Given the description of an element on the screen output the (x, y) to click on. 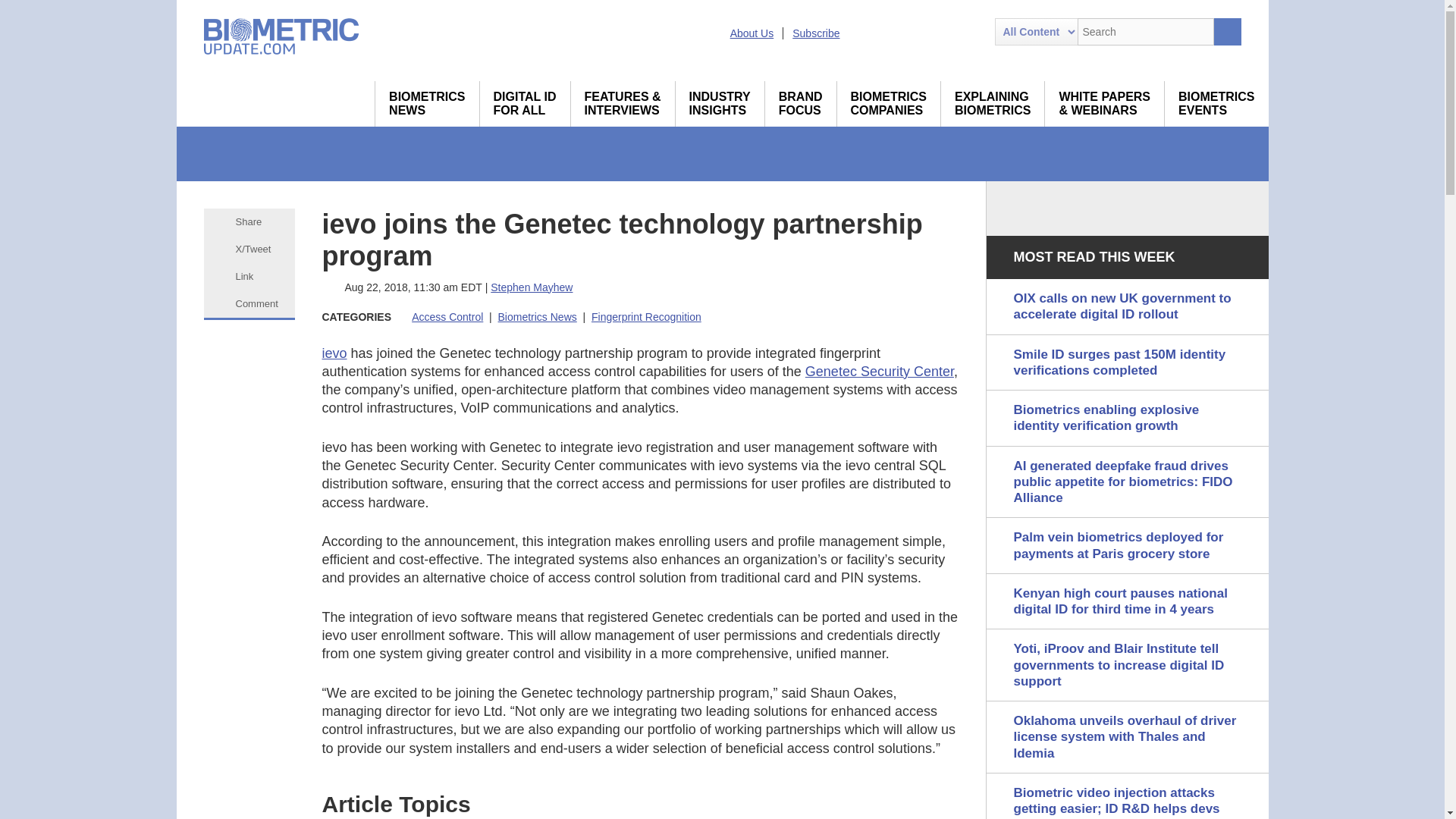
Subscribe (815, 33)
Resources: White Papers, Webinars and Explainers (1104, 103)
linkedin (890, 31)
Features, interviews and special reports (622, 103)
Daily biometrics news and interviews (427, 103)
twitter (917, 31)
rss (862, 31)
Biometrics companies, solutions and applications (888, 103)
Biometrics and digital ID initiatives in developing nations (525, 103)
Trade shows featuring biometrics technology (1216, 103)
Biometrics marketplace brand focus (800, 103)
About Us (751, 33)
Guest posts written by biometrics industry experts  (719, 103)
spotify (971, 31)
facebook (944, 31)
